Given the description of an element on the screen output the (x, y) to click on. 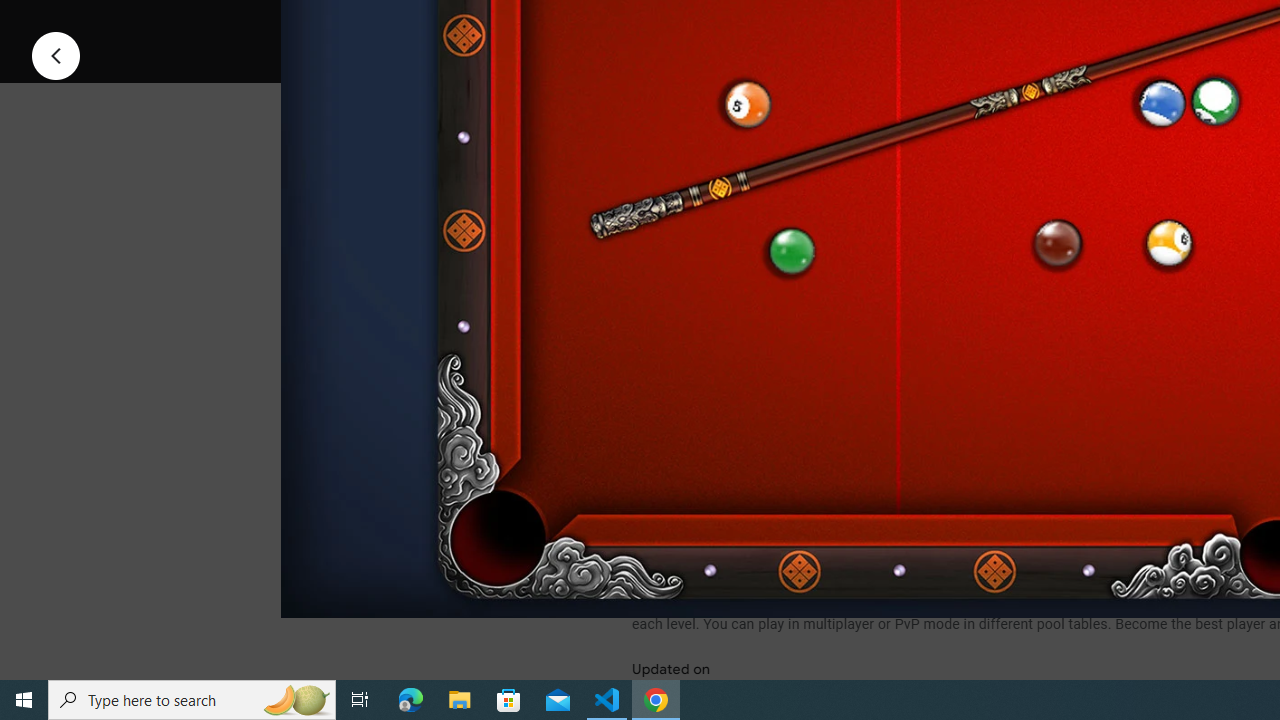
Add to wishlist (1014, 24)
Previous (55, 54)
See more information on About this game (830, 477)
Install (732, 24)
Share (890, 24)
Screenshot image (895, 271)
